Given the description of an element on the screen output the (x, y) to click on. 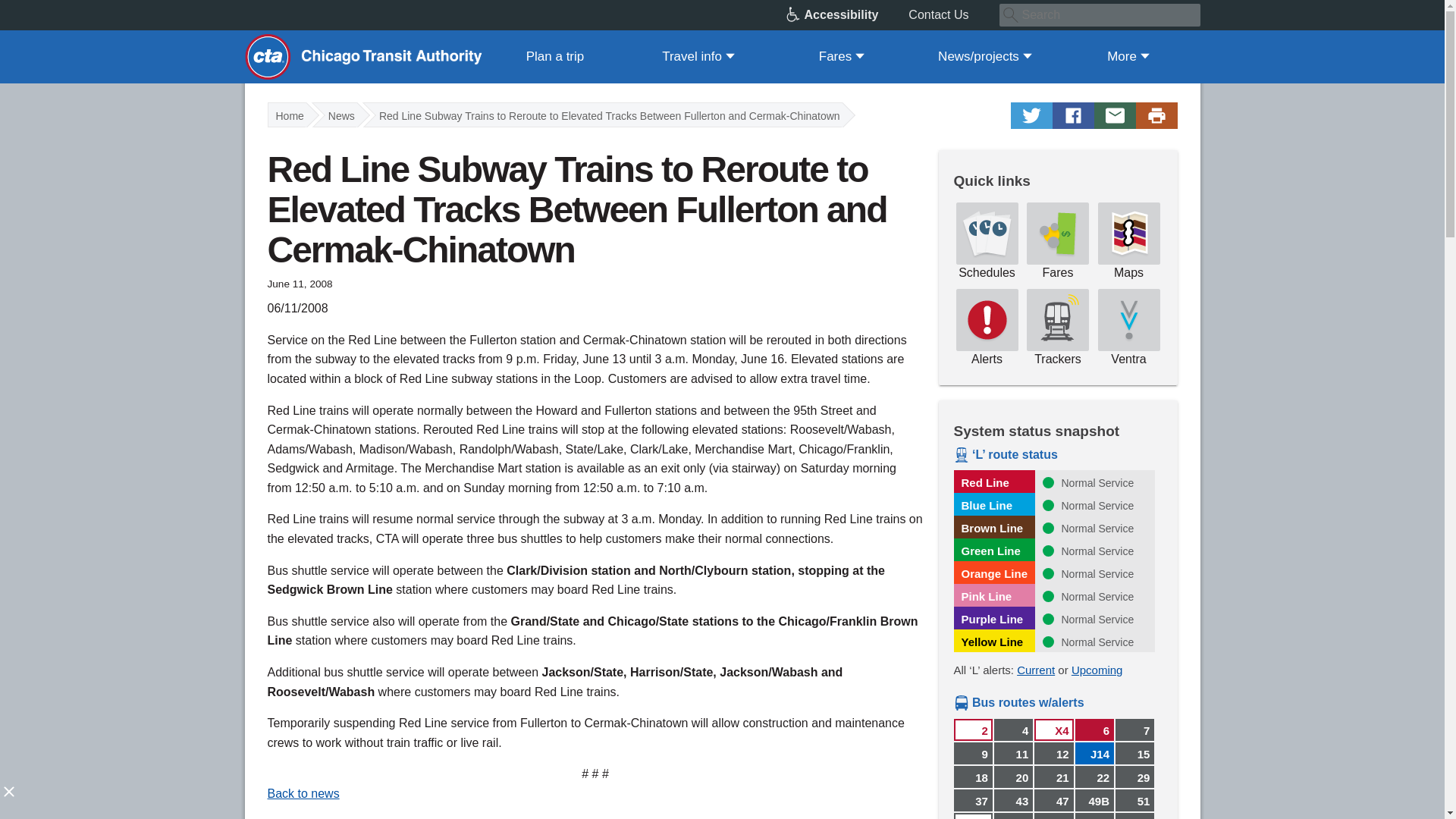
Contact Us (953, 15)
Travel info (698, 56)
Plan a trip (555, 56)
Accessibility (847, 15)
